Given the description of an element on the screen output the (x, y) to click on. 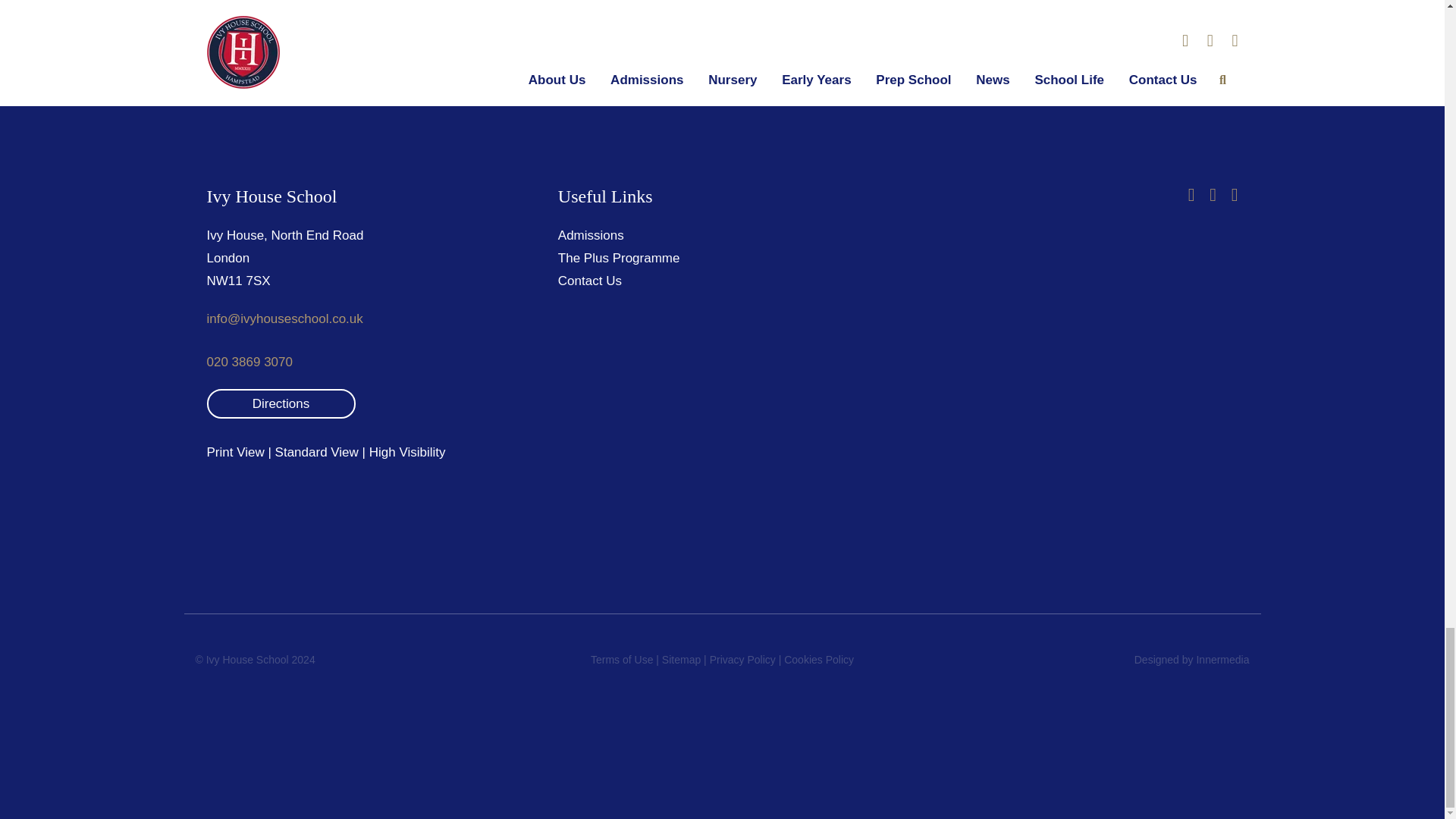
Switch to Print (234, 452)
Switch to Standard Visibility (316, 452)
Switch to High Visibility (407, 452)
